Given the description of an element on the screen output the (x, y) to click on. 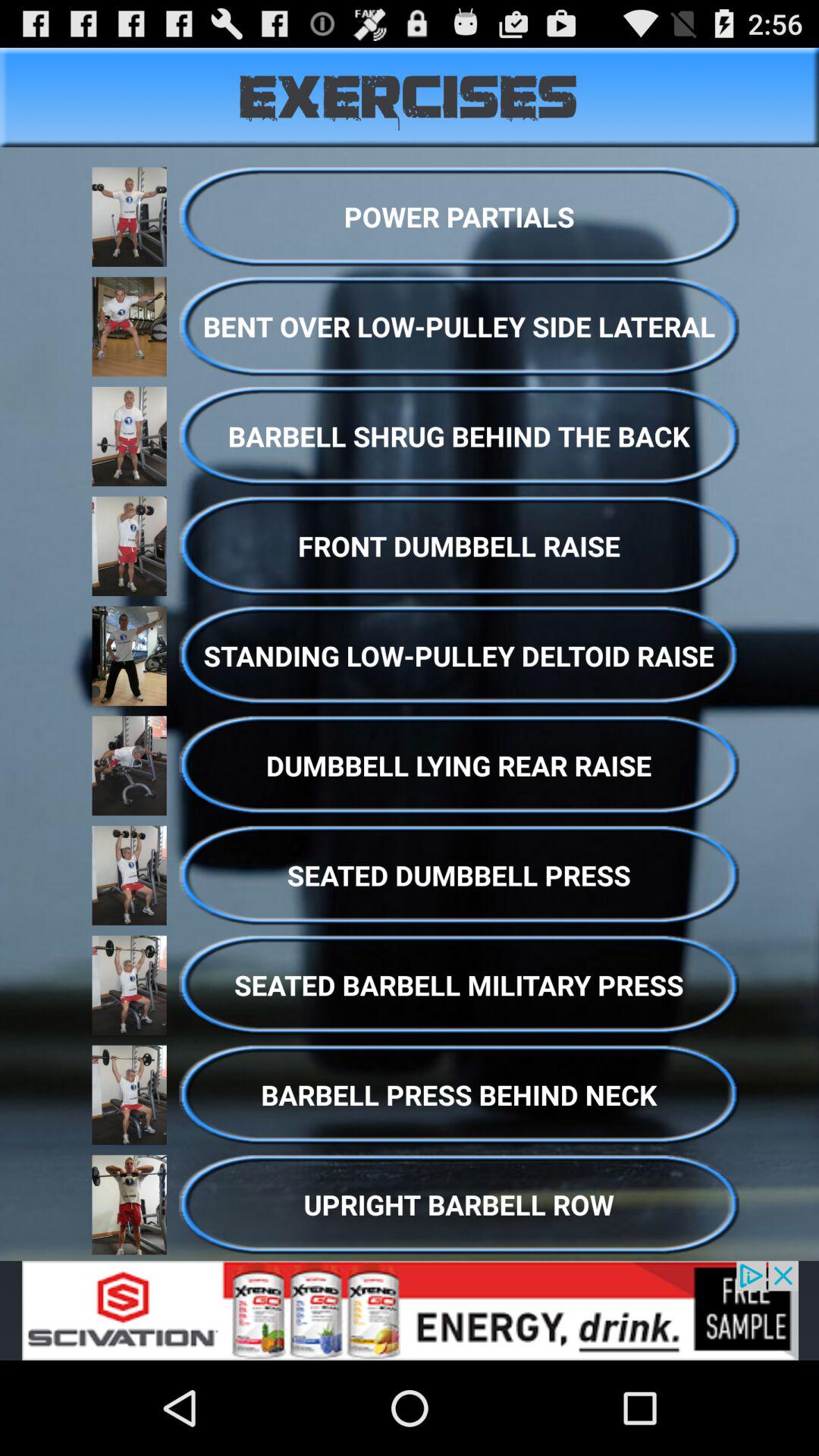
visit advertisement (409, 1310)
